Given the description of an element on the screen output the (x, y) to click on. 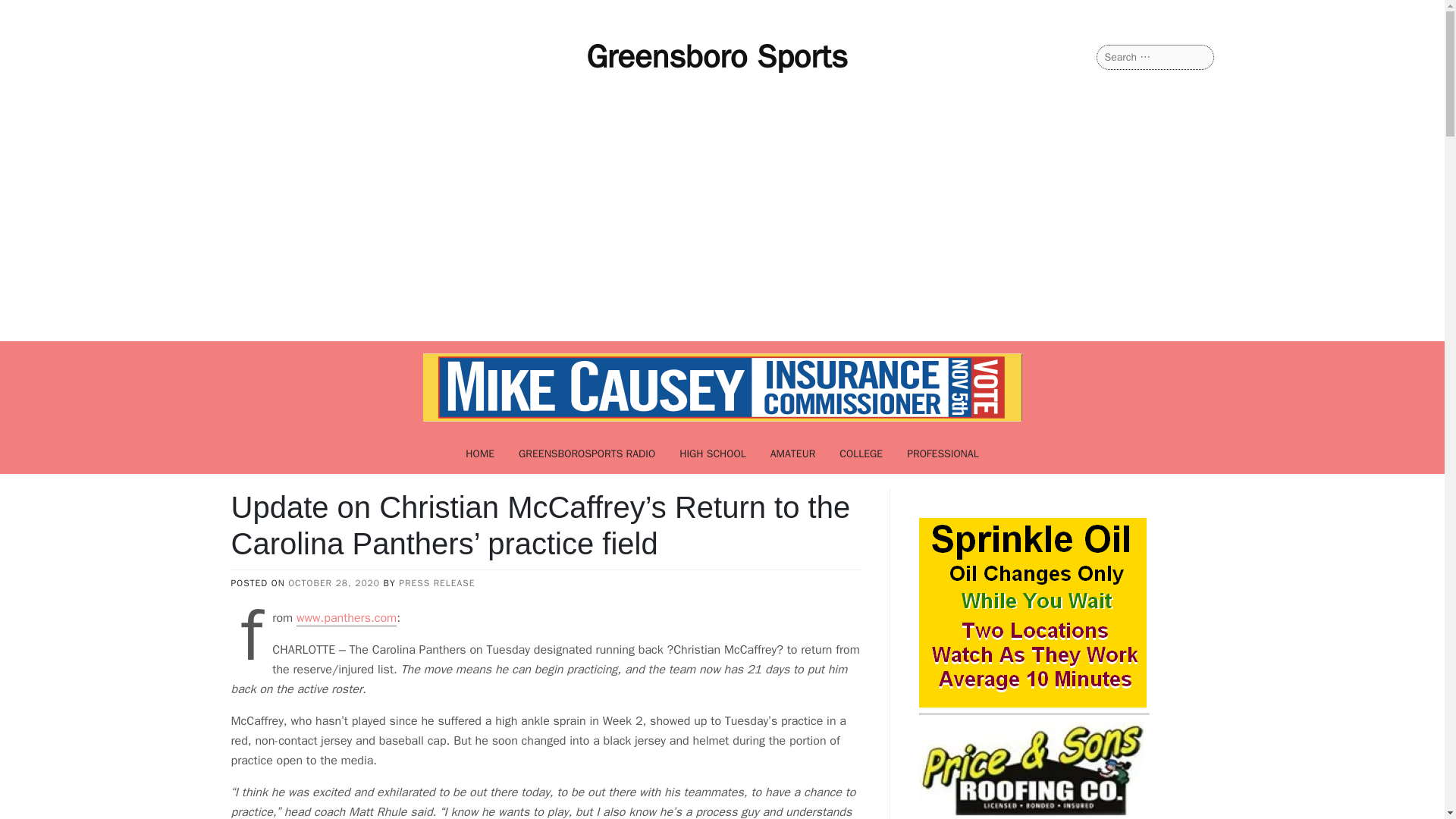
Search (30, 12)
PRESS RELEASE (436, 582)
PROFESSIONAL (943, 454)
AMATEUR (793, 454)
COLLEGE (861, 454)
OCTOBER 28, 2020 (334, 582)
GREENSBOROSPORTS RADIO (586, 454)
www.panthers.com (346, 618)
HIGH SCHOOL (712, 454)
